Given the description of an element on the screen output the (x, y) to click on. 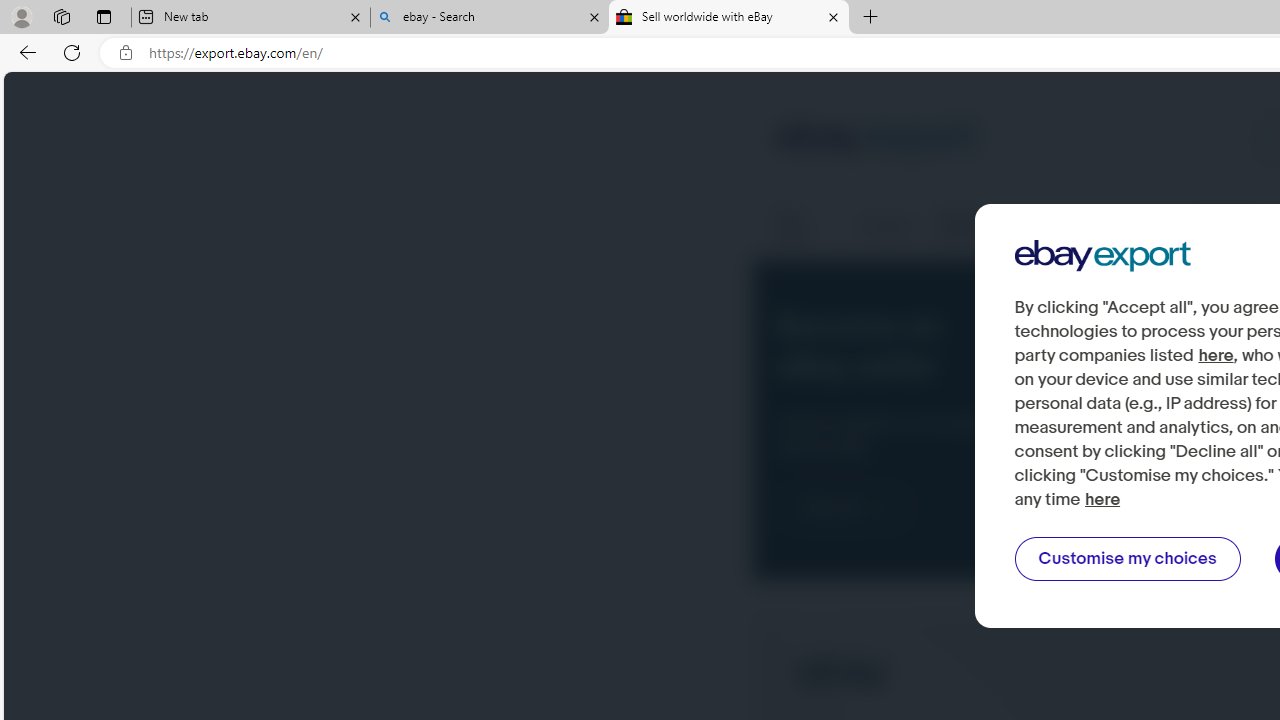
Find out (845, 507)
New Tab (870, 17)
Refresh (72, 52)
New tab (250, 17)
Shipping (886, 226)
Workspaces (61, 16)
